Given the description of an element on the screen output the (x, y) to click on. 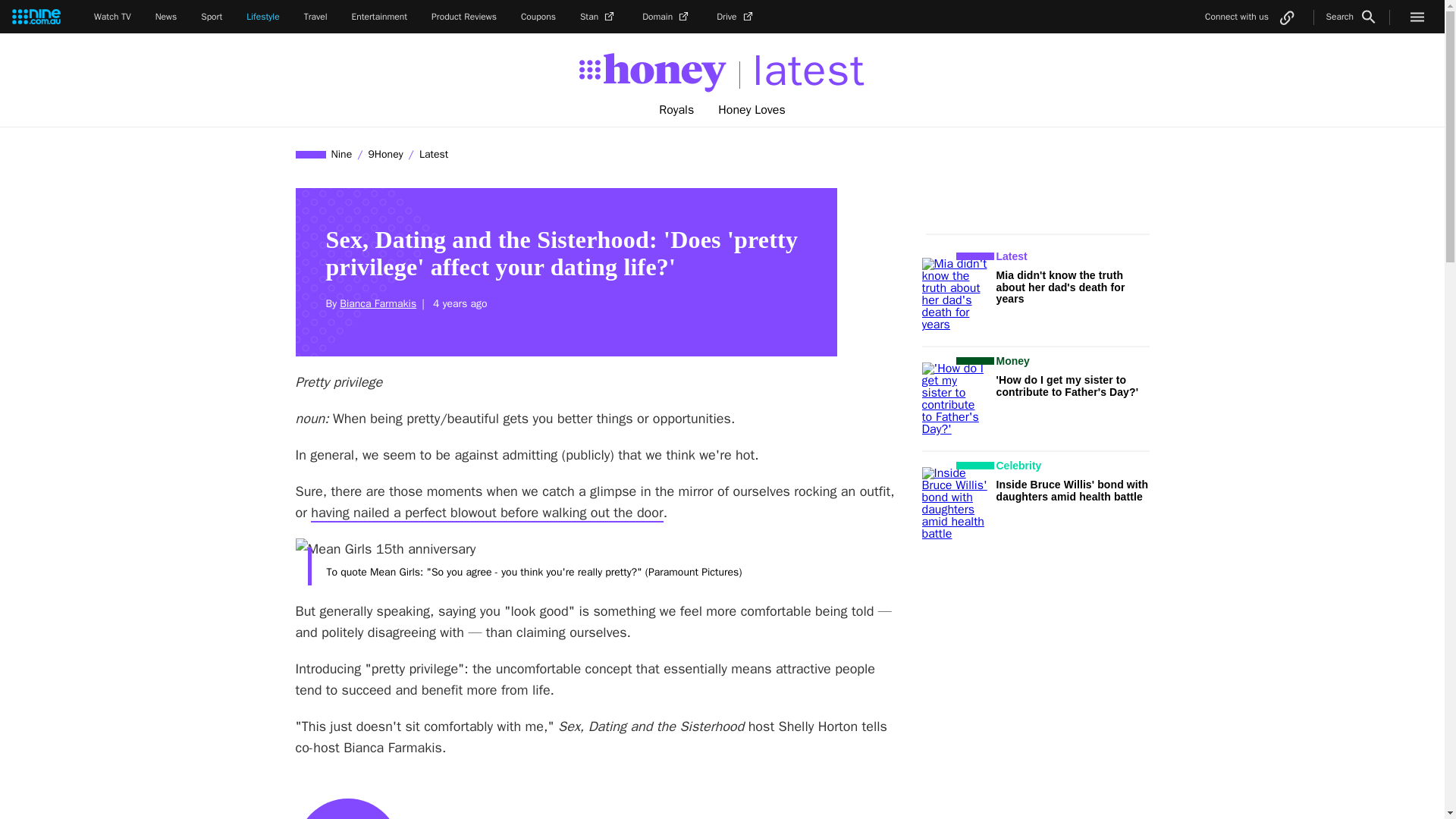
Stan (598, 16)
Coupons (538, 16)
Nine (342, 154)
Latest (432, 154)
Honey Loves (751, 109)
Watch TV (112, 16)
2020-09-02 21:14 (457, 303)
Lifestyle (262, 16)
Entertainment (379, 16)
Royals (676, 109)
